Given the description of an element on the screen output the (x, y) to click on. 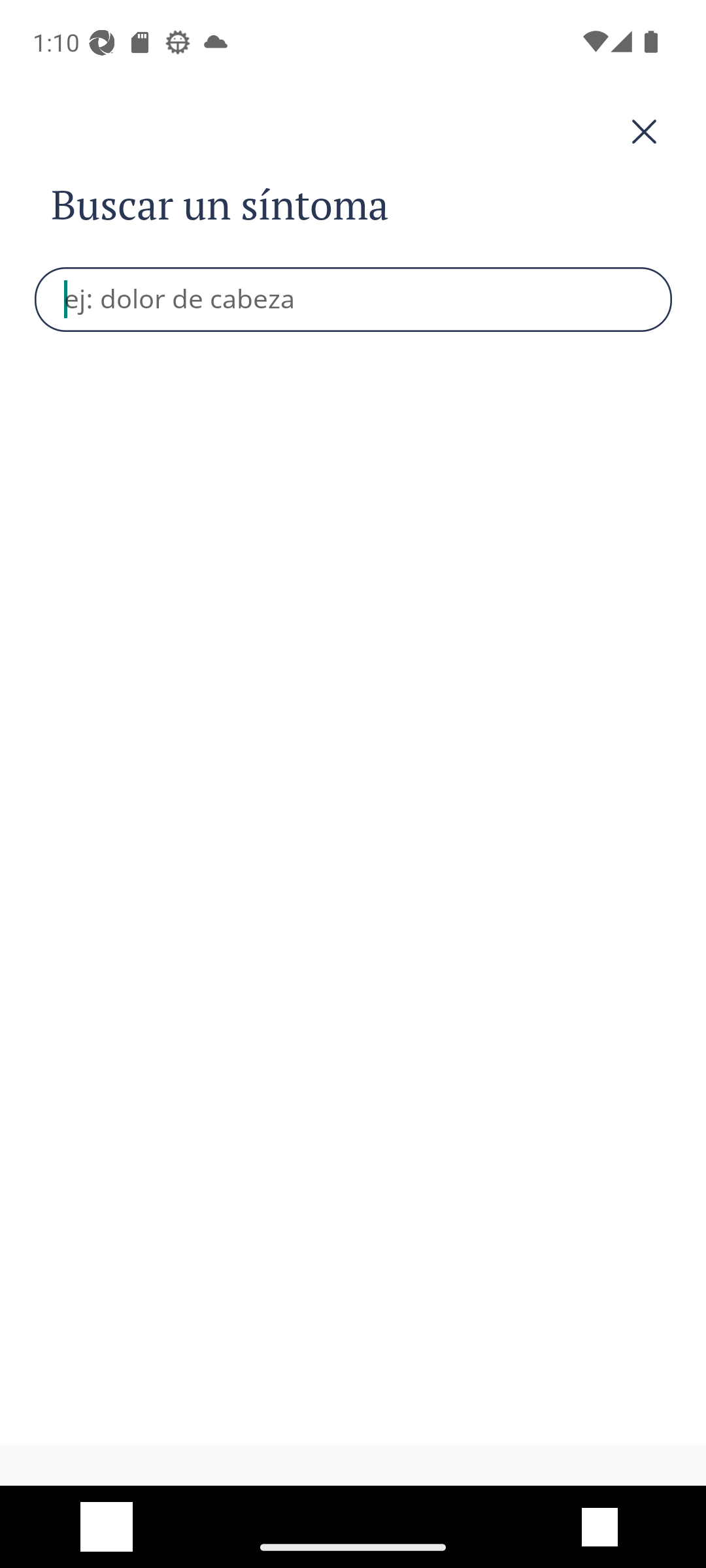
Close, button (353, 131)
ej: dolor de cabeza (353, 299)
